Given the description of an element on the screen output the (x, y) to click on. 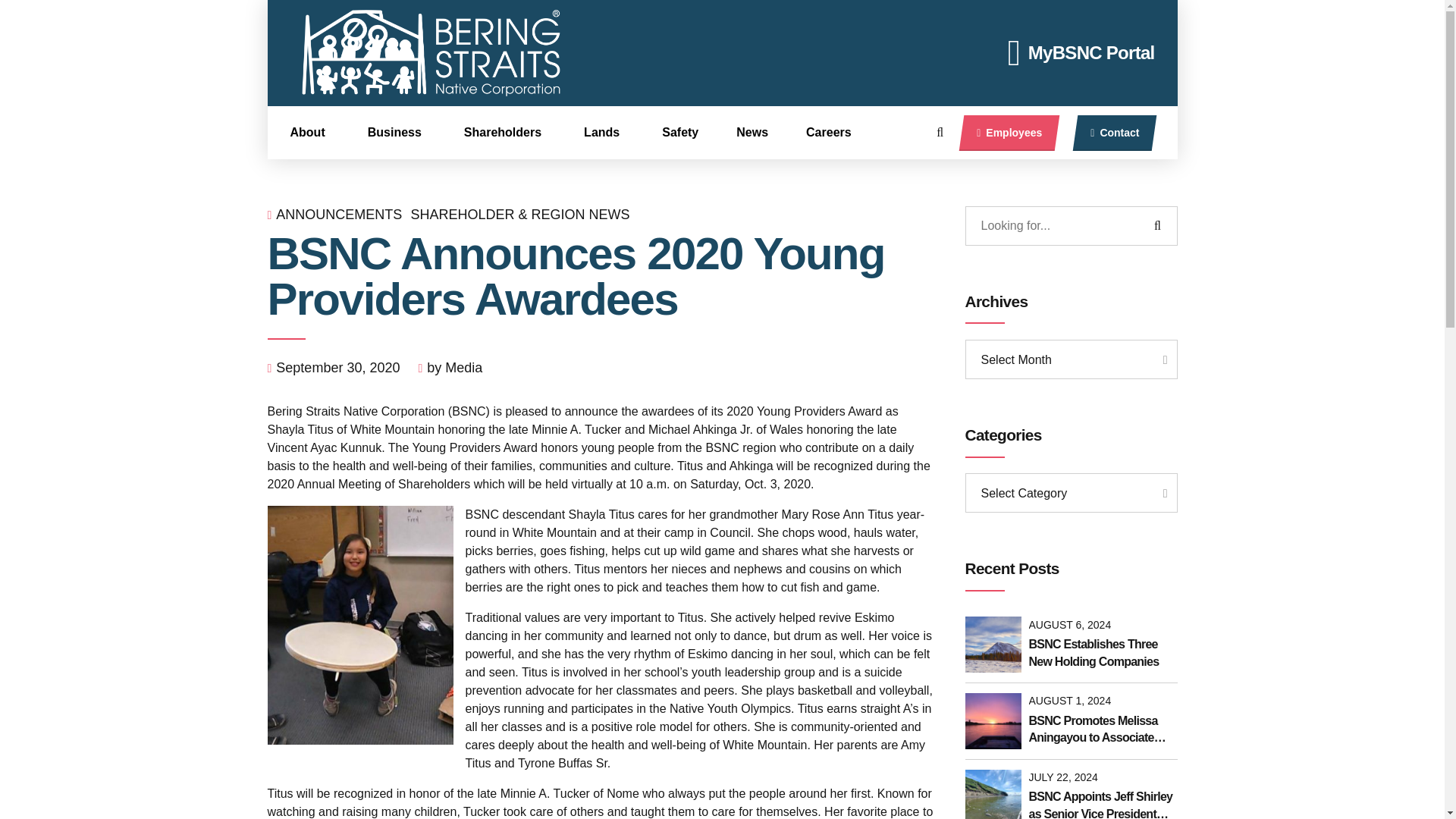
Contact (1114, 132)
Shareholders (523, 132)
About (327, 132)
Employees (1008, 132)
Employees (1008, 132)
BSNC Establishes Three New Holding Companies (1101, 653)
MyBSNC Portal (1080, 53)
Contact (1114, 132)
